Given the description of an element on the screen output the (x, y) to click on. 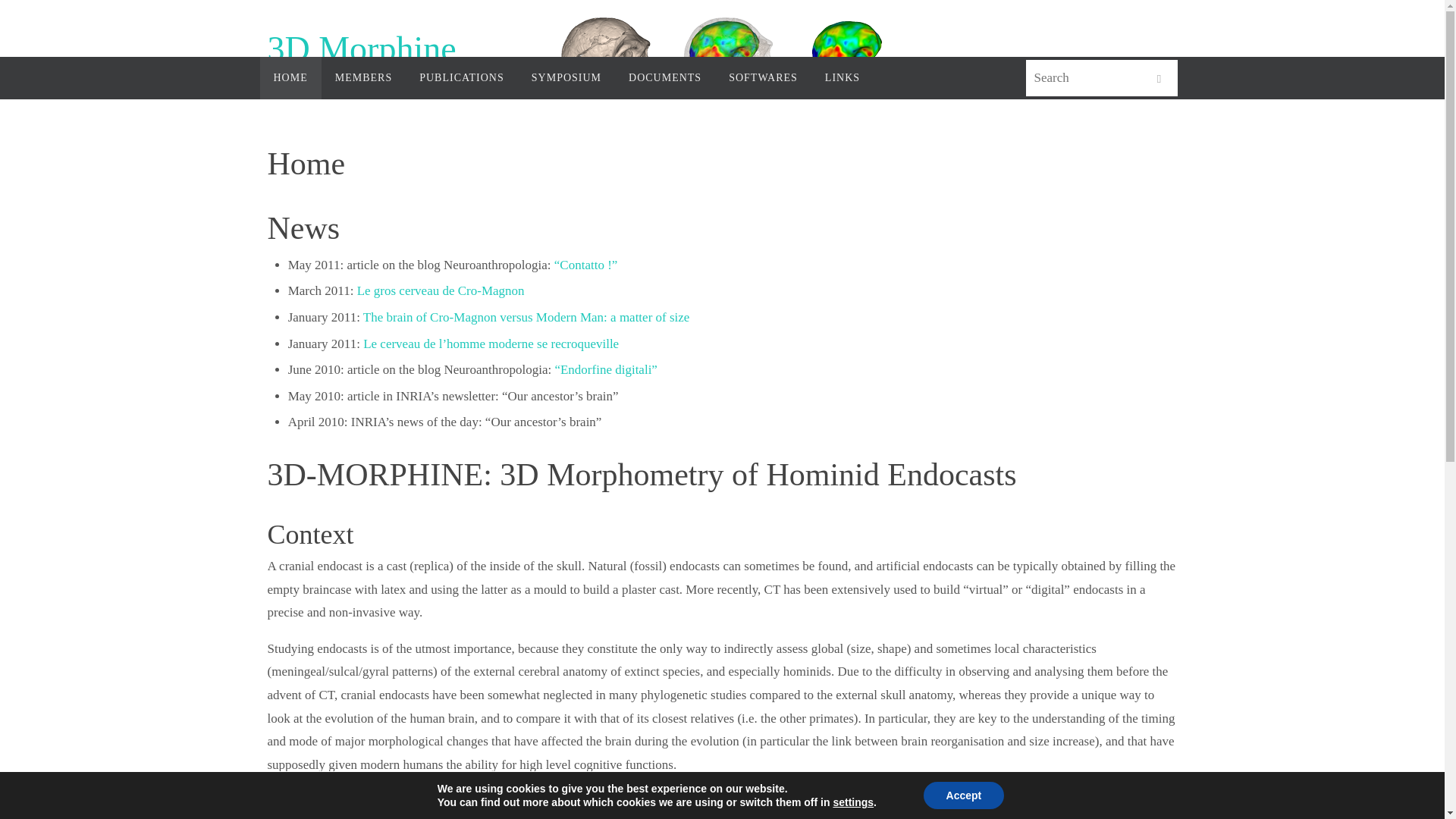
PUBLICATIONS (462, 77)
MEMBERS (363, 77)
3D Morphine (722, 56)
3D Morphine (360, 49)
3D Morphine (360, 49)
The brain of Cro-Magnon versus Modern Man: a matter of size (526, 317)
Le gros cerveau de Cro-Magnon (440, 290)
HOME (289, 77)
SYMPOSIUM (566, 77)
Search (1158, 78)
SOFTWARES (762, 77)
DOCUMENTS (664, 77)
Accept (963, 795)
LINKS (841, 77)
